Given the description of an element on the screen output the (x, y) to click on. 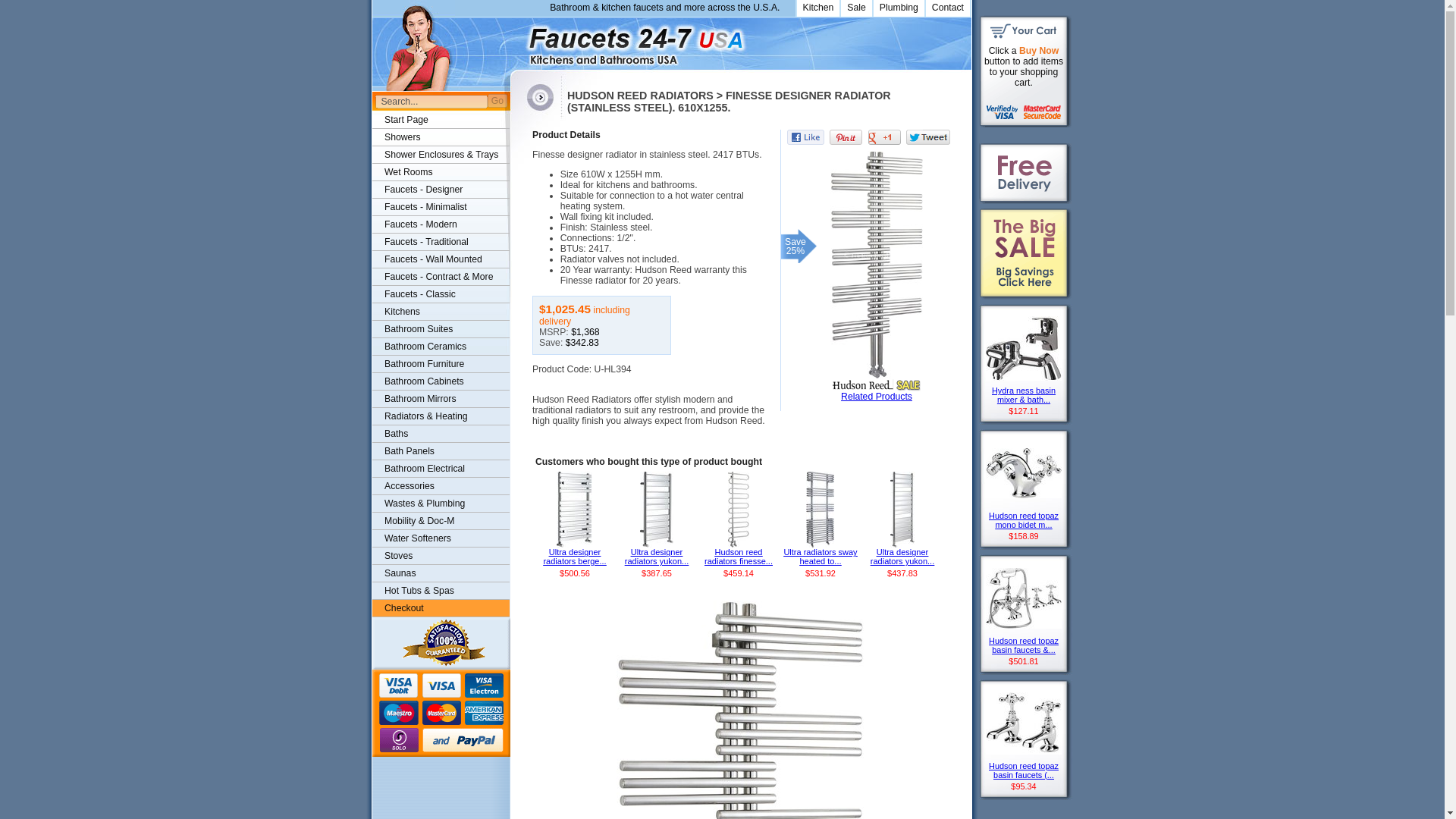
Bathroom Furniture (440, 364)
Plumbing (898, 8)
Ultra designer radiators yukon... (902, 558)
Wet Rooms (440, 171)
Contact (946, 8)
Faucets - Traditional (440, 241)
Go (496, 100)
Bath Panels (440, 451)
Faucets - Minimalist (440, 207)
Bathroom Ceramics (440, 346)
Faucets - Classic (440, 294)
Share on Twitter (927, 136)
Bathroom Mirrors (440, 398)
Start Page (440, 119)
Bathroom Electrical (440, 468)
